Given the description of an element on the screen output the (x, y) to click on. 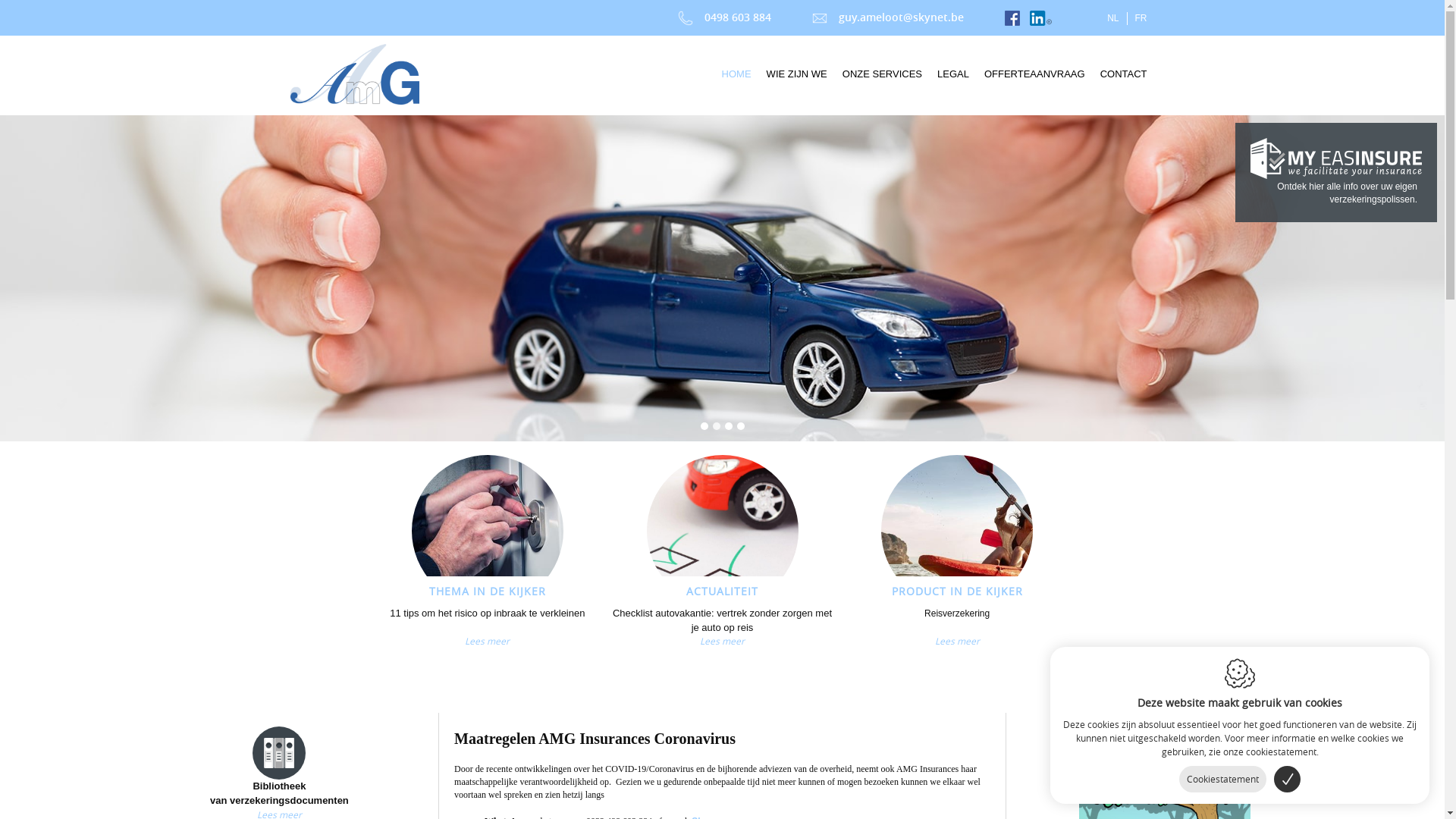
3 Element type: text (728, 425)
Bibliotheek
van verzekeringsdocumenten Element type: text (278, 766)
CONTACT Element type: text (1123, 74)
NL Element type: text (1112, 18)
1 Element type: text (704, 425)
HOME Element type: text (736, 74)
4 Element type: text (740, 425)
Ontdek hier alle info over uw eigen verzekeringspolissen. Element type: text (1335, 172)
2 Element type: text (716, 425)
OFFERTEAANVRAAG Element type: text (1034, 74)
Lees meer Element type: text (722, 644)
Cookiestatement Element type: text (1222, 778)
ONZE SERVICES Element type: text (881, 74)
PRODUCT IN DE KIJKER
Reisverzekering Element type: text (956, 544)
FR Element type: text (1140, 18)
Lees meer Element type: text (487, 644)
WIE ZIJN WE Element type: text (796, 74)
guy.ameloot@skynet.be Element type: text (887, 16)
LEGAL Element type: text (952, 74)
Lees meer Element type: text (956, 644)
